Given the description of an element on the screen output the (x, y) to click on. 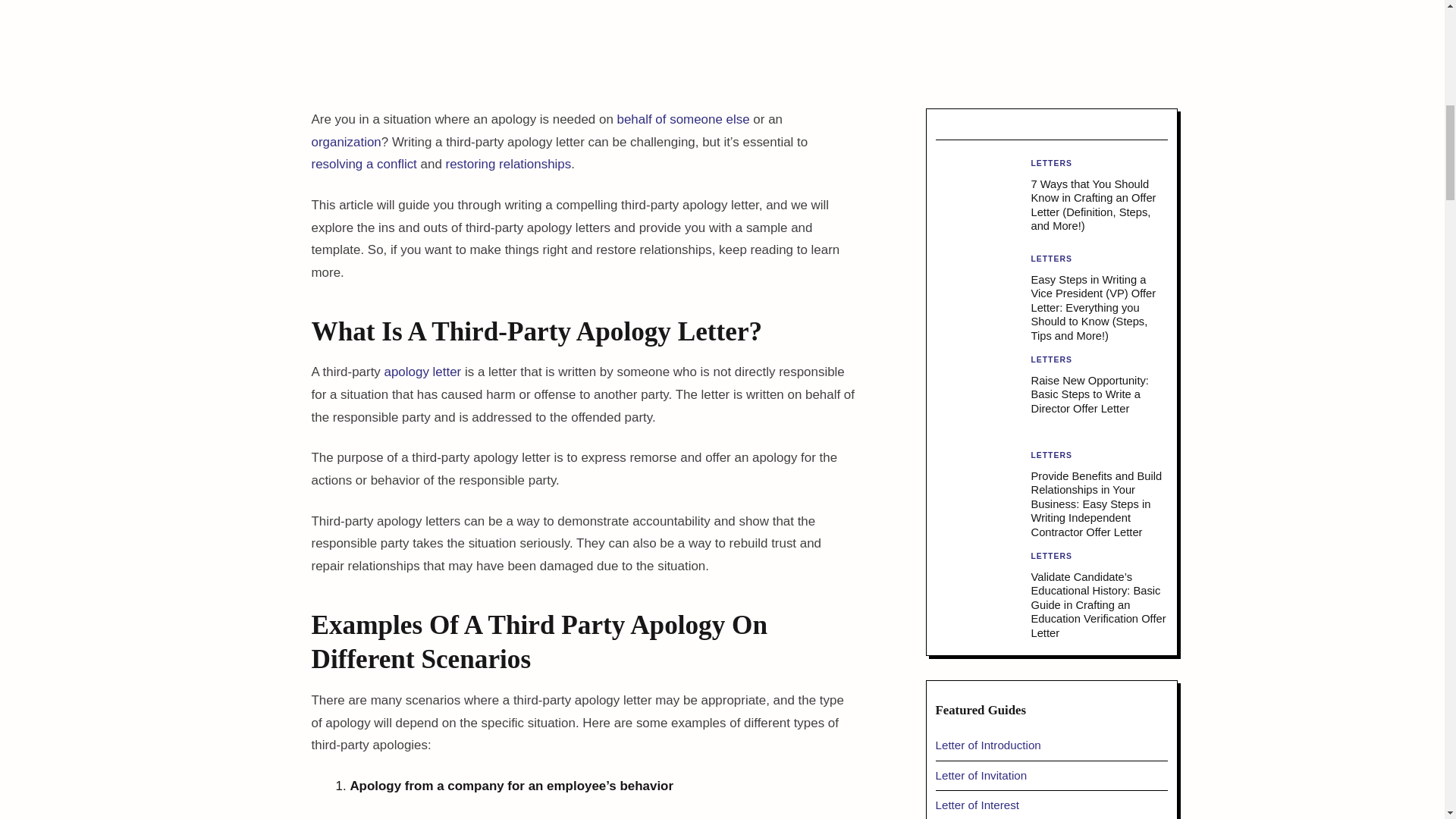
apology letter (422, 371)
Back to top (1412, 28)
resolving a conflict (363, 164)
restoring relationships (508, 164)
organization (345, 142)
behalf of someone else (683, 119)
